Given the description of an element on the screen output the (x, y) to click on. 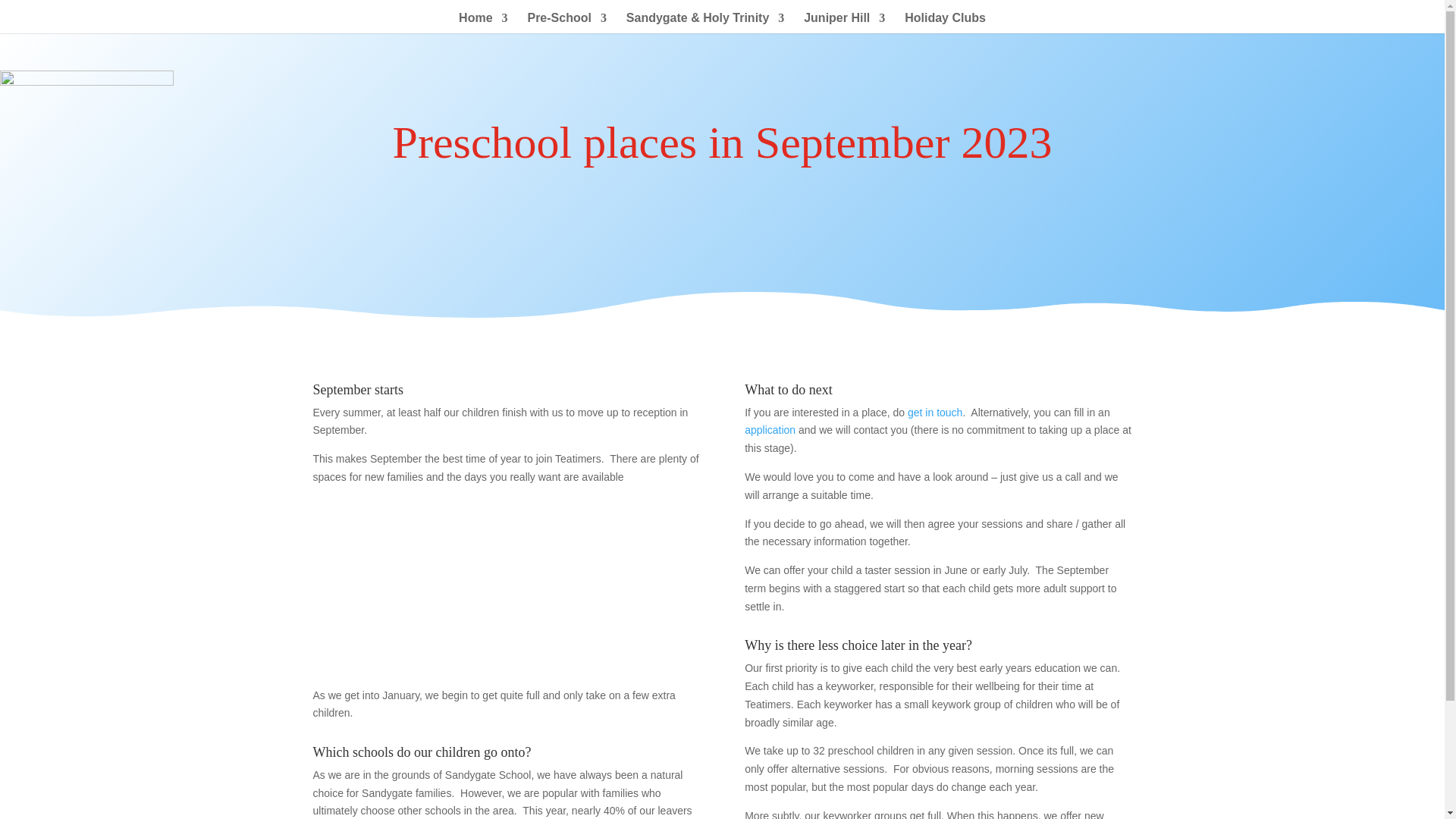
Holiday Clubs (944, 23)
Juniper Hill (844, 23)
Pre-School (566, 23)
application (769, 429)
Home (482, 23)
get in touch (934, 412)
